Given the description of an element on the screen output the (x, y) to click on. 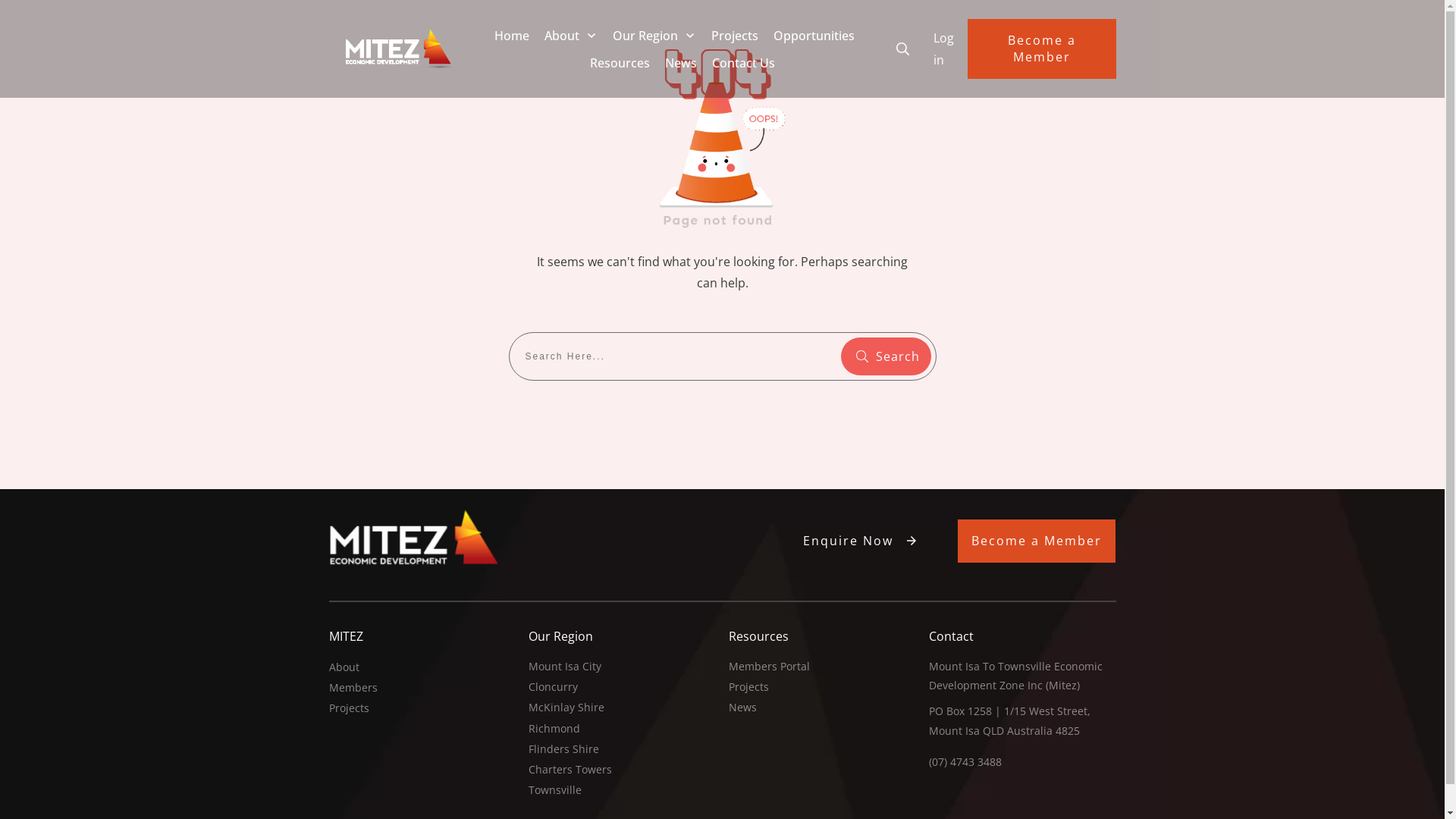
About Element type: text (344, 666)
Flinders Shire Element type: text (563, 748)
logo (5) (2) Element type: hover (398, 48)
(07) 4743 3488 Element type: text (964, 761)
Cloncurry Element type: text (552, 686)
Contact Us Element type: text (743, 62)
Login Element type: text (943, 48)
404 img alpha-8 (1) Element type: hover (722, 132)
Our Region Element type: text (654, 35)
Projects Element type: text (734, 35)
McKinlay Shire Element type: text (566, 706)
Become a Member Element type: text (1041, 48)
News Element type: text (742, 706)
Charters Towers Element type: text (569, 769)
Become a Member Element type: text (1036, 541)
Townsville Element type: text (554, 789)
logo_footer Element type: hover (413, 537)
Resources Element type: text (619, 62)
Members Portal Element type: text (768, 665)
News Element type: text (680, 62)
Enquire Now Element type: text (860, 541)
Richmond Element type: text (554, 728)
Projects Element type: text (349, 707)
About Element type: text (570, 35)
Home Element type: text (511, 35)
Mount Isa City Element type: text (564, 665)
Members Element type: text (353, 687)
Projects Element type: text (748, 686)
Search Element type: text (885, 356)
Opportunities Element type: text (813, 35)
